Given the description of an element on the screen output the (x, y) to click on. 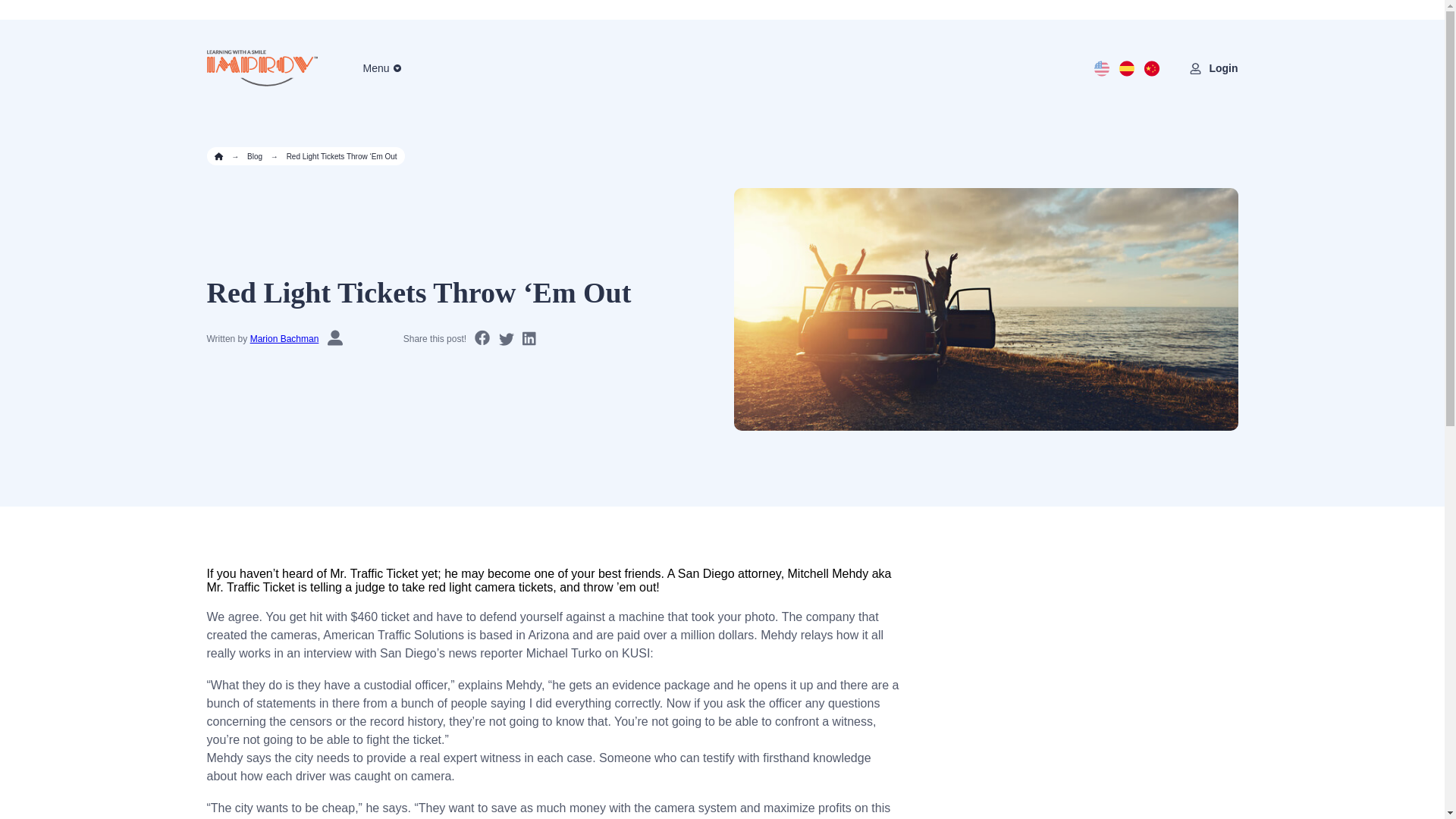
Menu (375, 68)
Login (1222, 68)
Posts by Marion Bachman (284, 338)
